Given the description of an element on the screen output the (x, y) to click on. 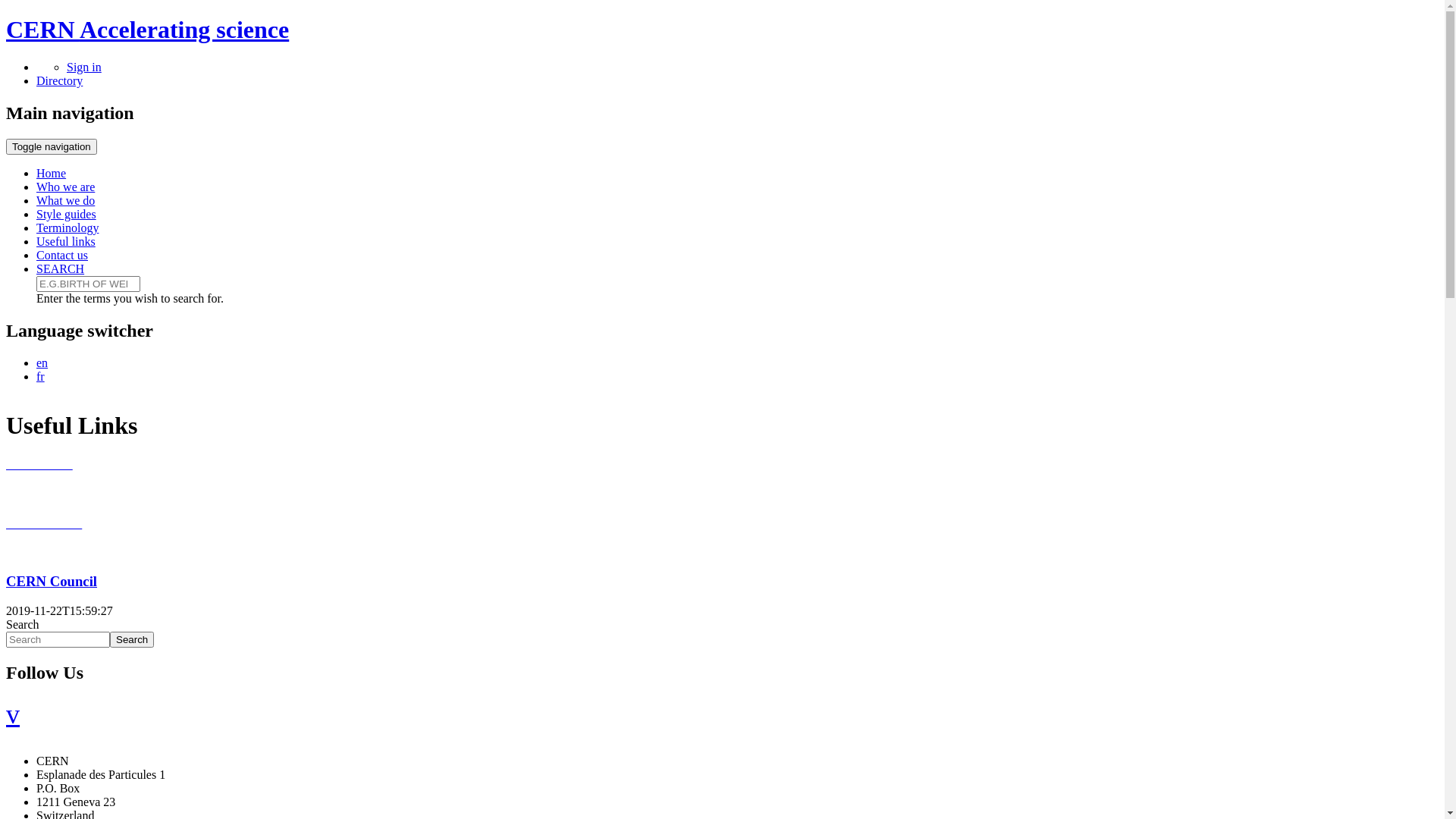
Home Element type: text (50, 172)
Enter the terms you wish to search for. Element type: hover (88, 283)
Enter the terms you wish to search for. Element type: hover (57, 639)
What we do Element type: text (65, 200)
Terminology Element type: text (67, 227)
Useful links Element type: text (65, 241)
Toggle navigation Element type: text (51, 146)
v Element type: text (12, 714)
fr Element type: text (40, 376)
News CERN Element type: text (43, 522)
Home cern Element type: text (39, 463)
Who we are Element type: text (65, 186)
en Element type: text (41, 362)
Skip to main content Element type: text (6, 15)
CERN Accelerating science Element type: text (147, 29)
SEARCH Element type: text (60, 268)
Contact us Element type: text (61, 254)
Style guides Element type: text (66, 213)
Sign in Element type: text (83, 66)
CERN Council Element type: text (51, 581)
Search Element type: text (131, 639)
Directory Element type: text (59, 80)
